Given the description of an element on the screen output the (x, y) to click on. 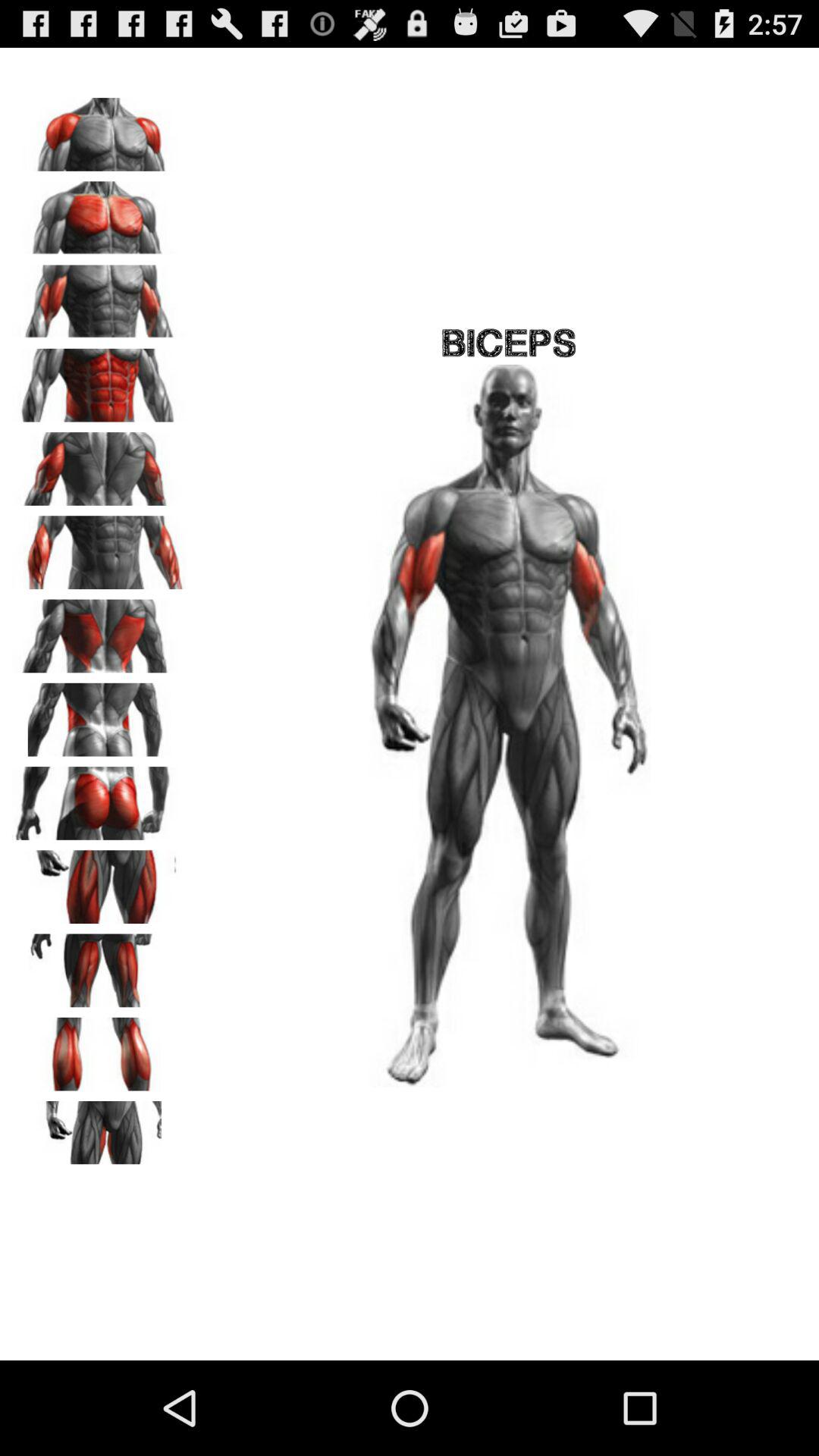
choose option (99, 380)
